Given the description of an element on the screen output the (x, y) to click on. 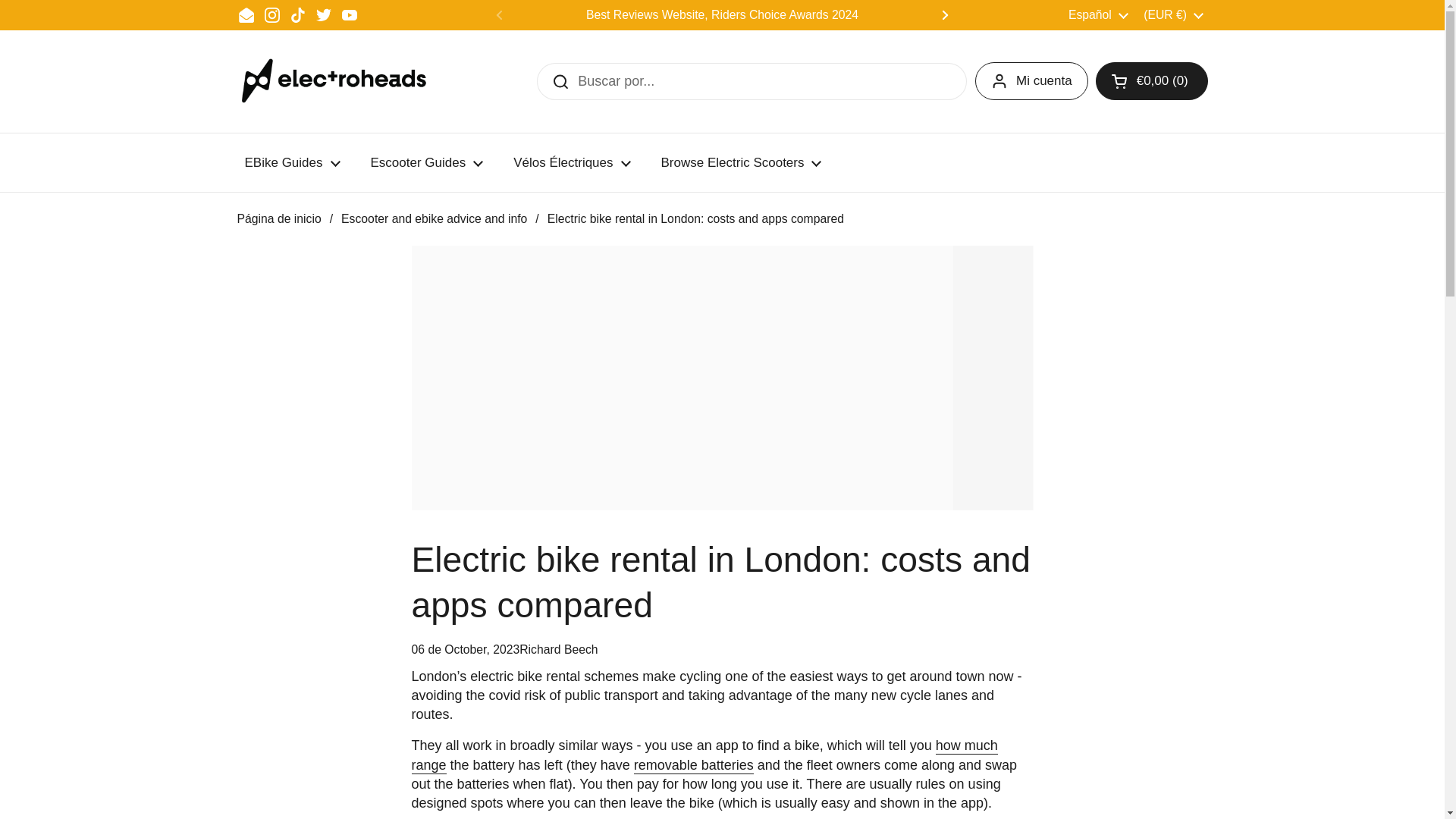
EBike Guides (291, 162)
Electroheads Media Ltd (340, 81)
Email (244, 14)
TikTok (296, 14)
Read our expert guides (1168, 14)
long range electric bikes (703, 755)
YouTube (348, 14)
Escooter Guides (426, 162)
Abrir carrito (1152, 80)
Twitter (322, 14)
Mi cuenta (1031, 80)
Instagram (271, 14)
electric bikes with removable batteries (693, 765)
